Given the description of an element on the screen output the (x, y) to click on. 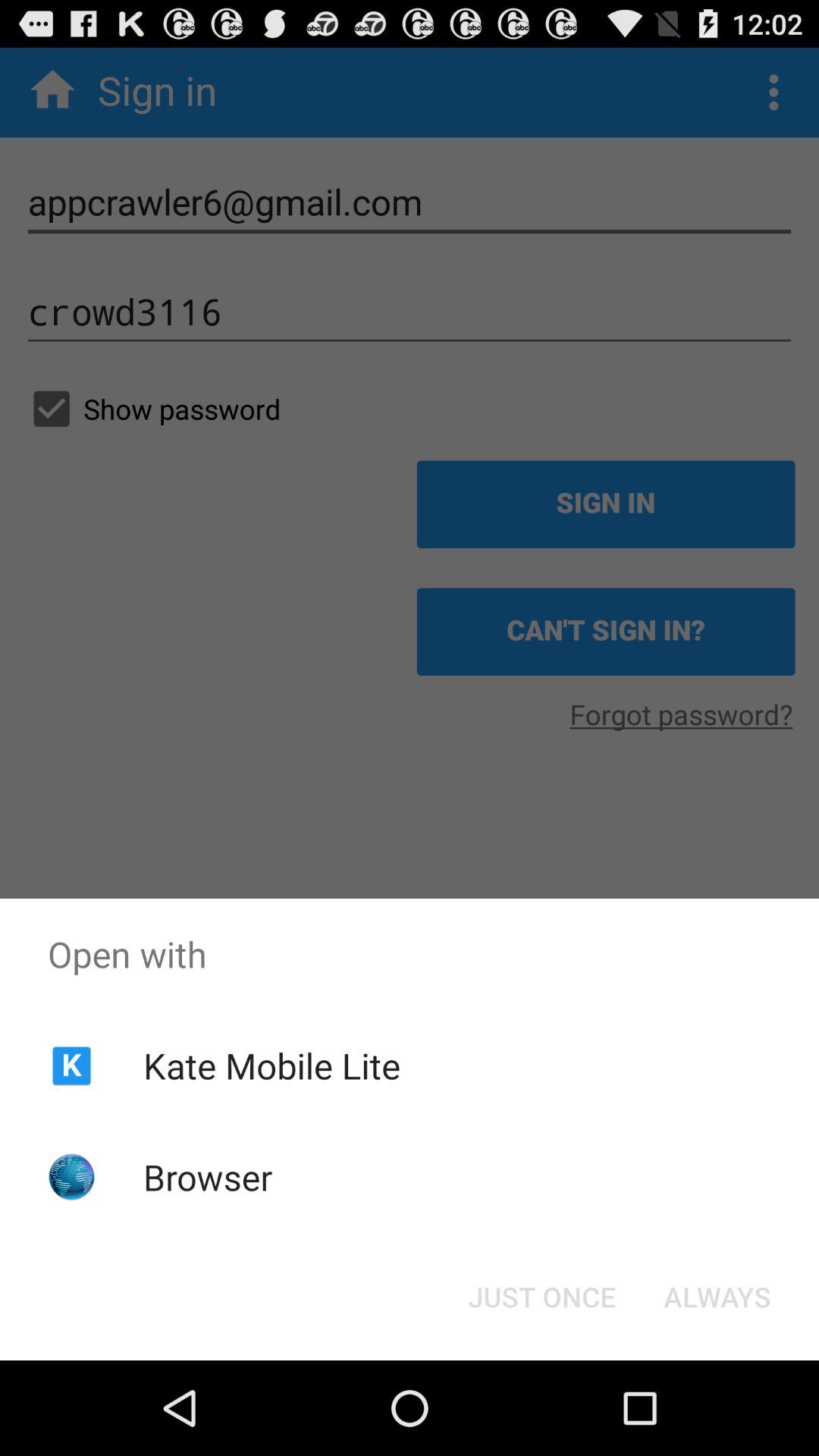
flip until kate mobile lite (271, 1065)
